Given the description of an element on the screen output the (x, y) to click on. 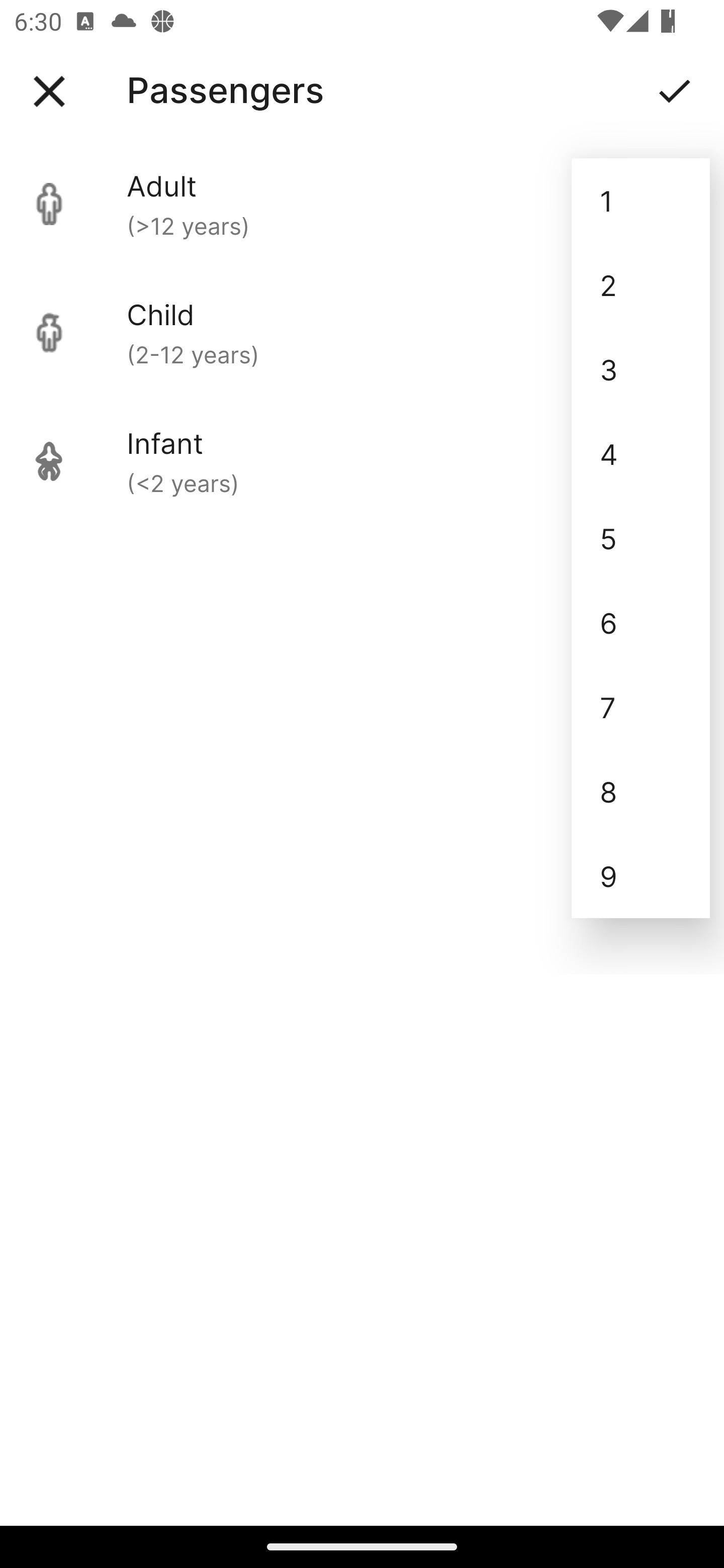
1 (640, 200)
2 (640, 285)
3 (640, 368)
4 (640, 452)
5 (640, 537)
6 (640, 622)
7 (640, 706)
8 (640, 791)
9 (640, 876)
